Given the description of an element on the screen output the (x, y) to click on. 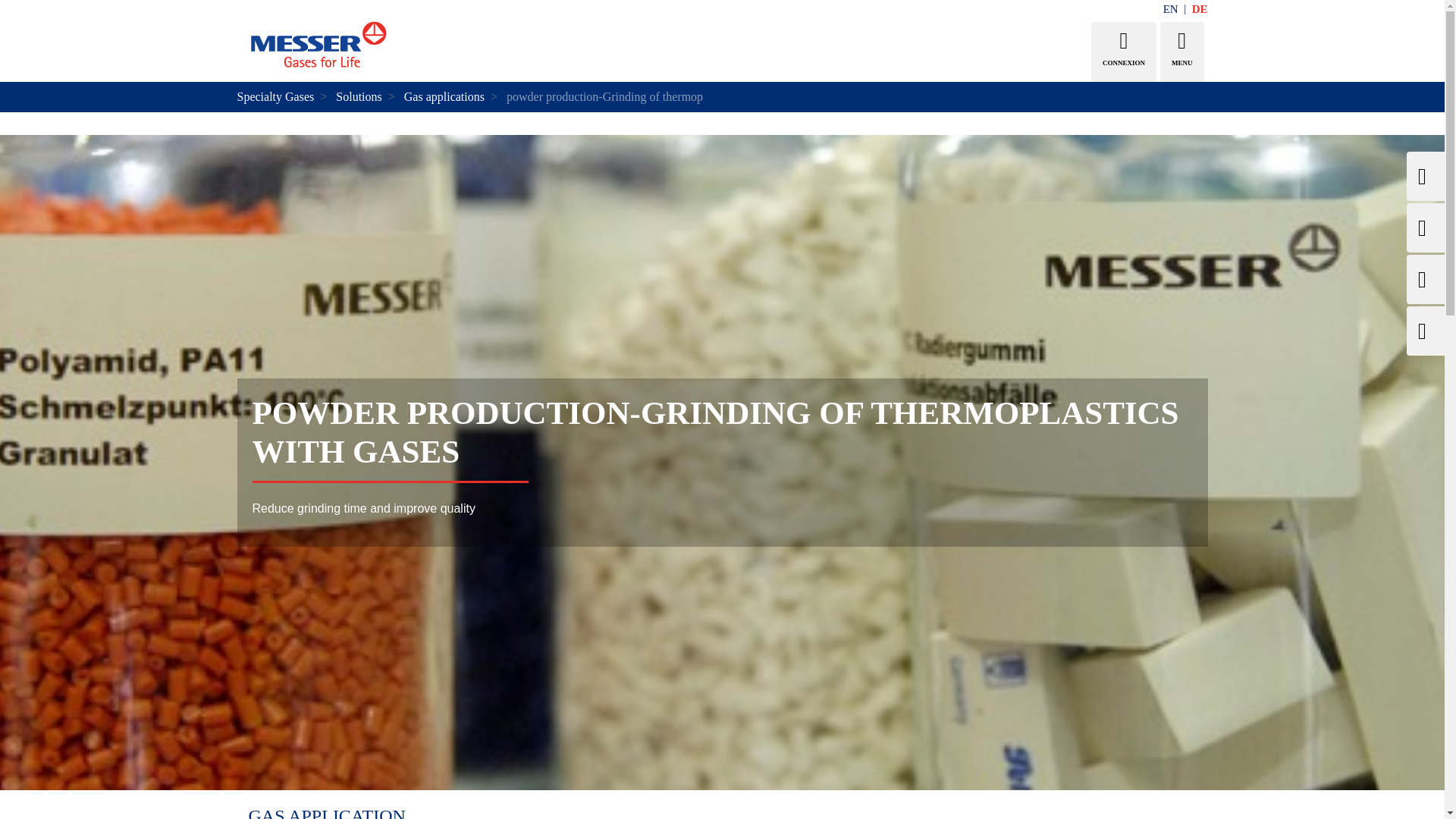
EN (1177, 8)
Gehe zu Specialty Gases (315, 45)
